Given the description of an element on the screen output the (x, y) to click on. 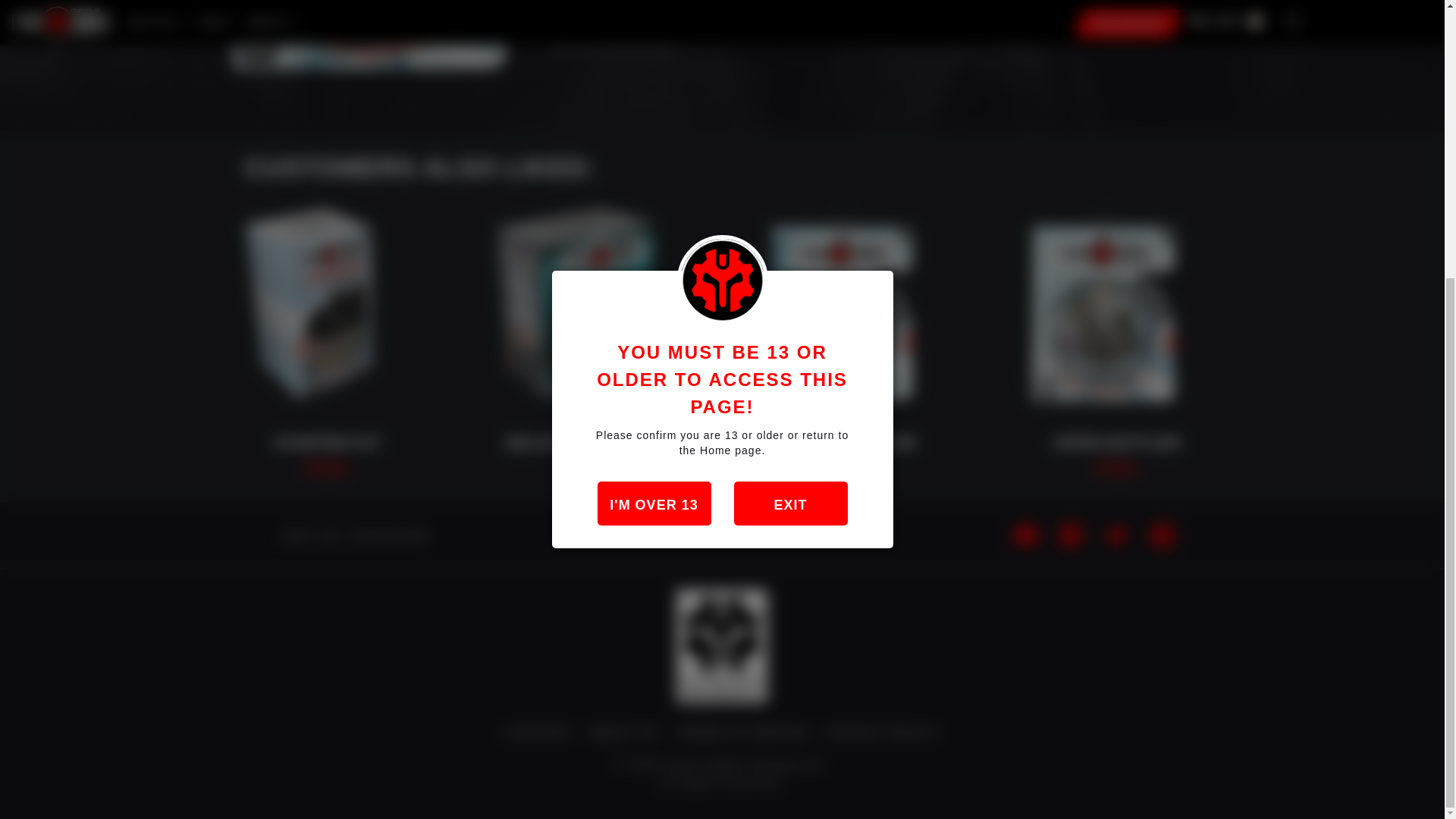
1 (778, 6)
